Given the description of an element on the screen output the (x, y) to click on. 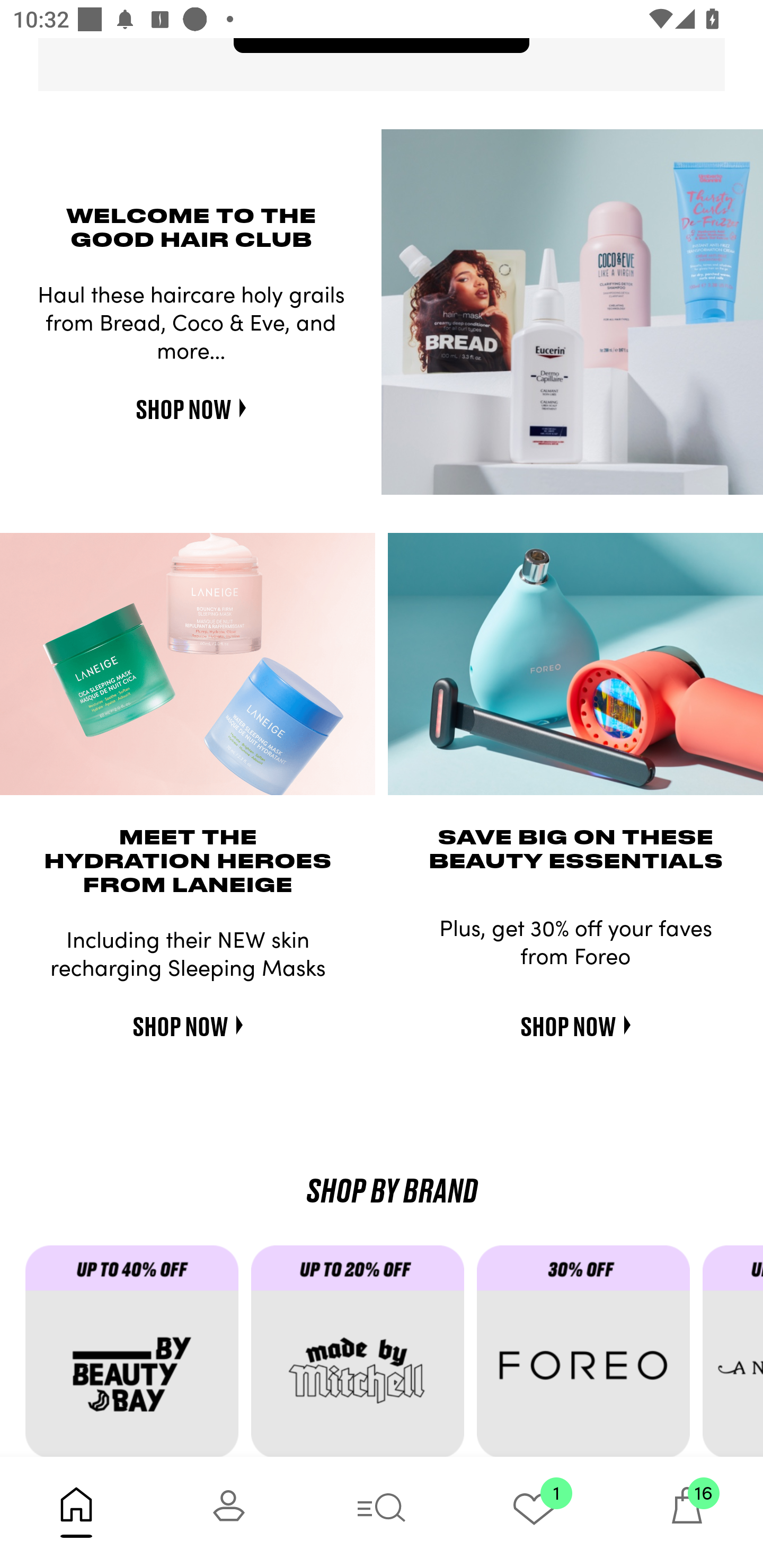
1 (533, 1512)
16 (686, 1512)
